Given the description of an element on the screen output the (x, y) to click on. 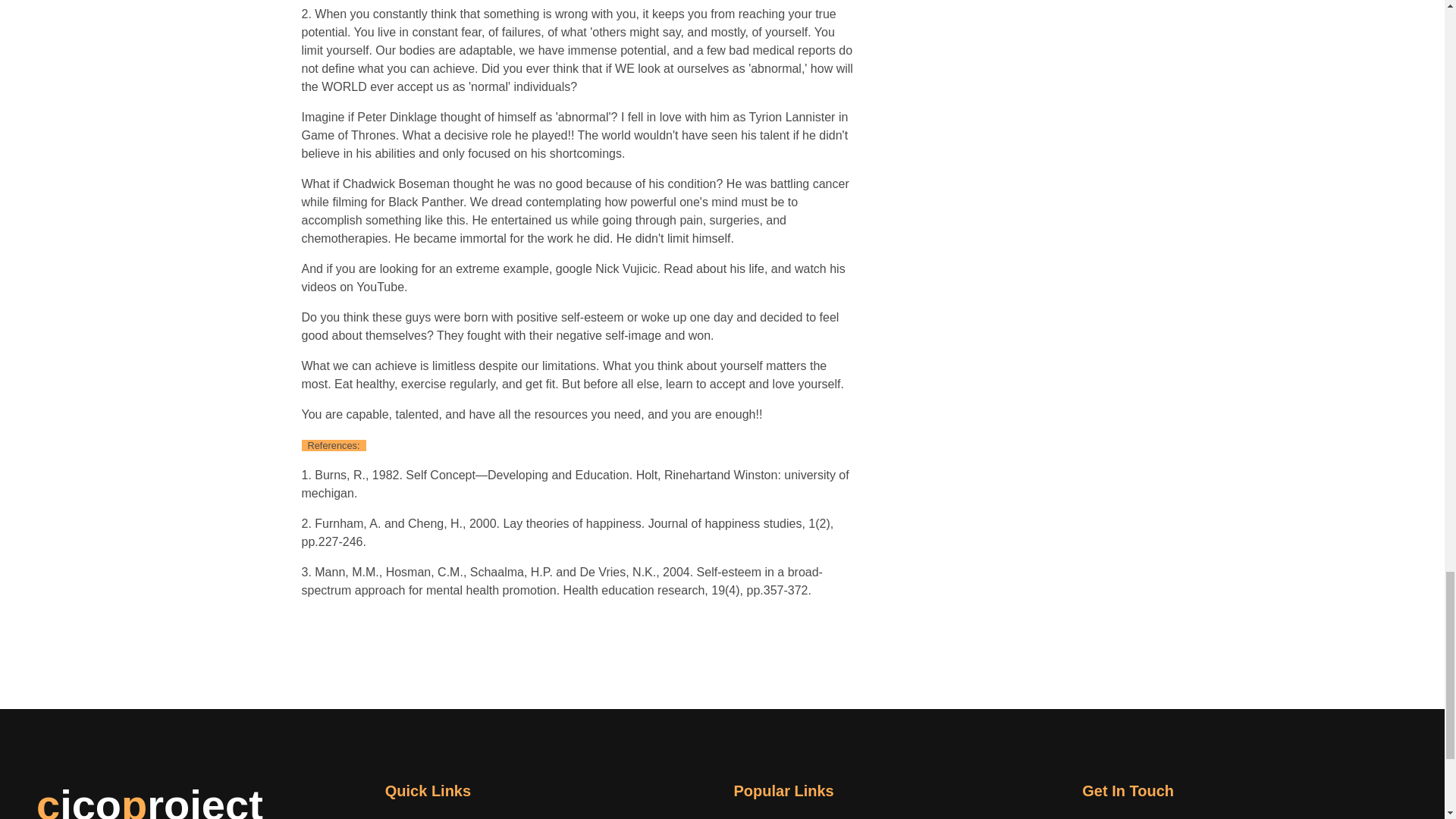
cicoproject (149, 800)
